Given the description of an element on the screen output the (x, y) to click on. 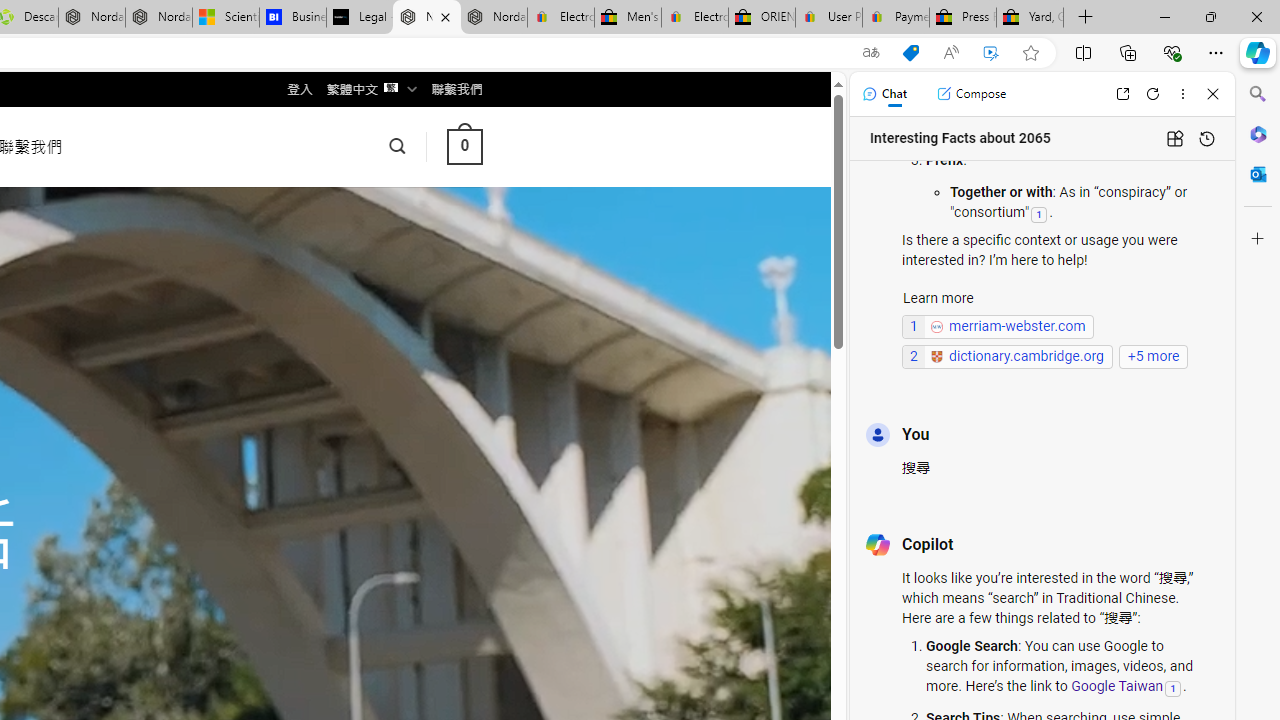
Minimize Search pane (1258, 94)
  0   (464, 146)
Compose (971, 93)
Show translate options (870, 53)
Press Room - eBay Inc. (962, 17)
